Given the description of an element on the screen output the (x, y) to click on. 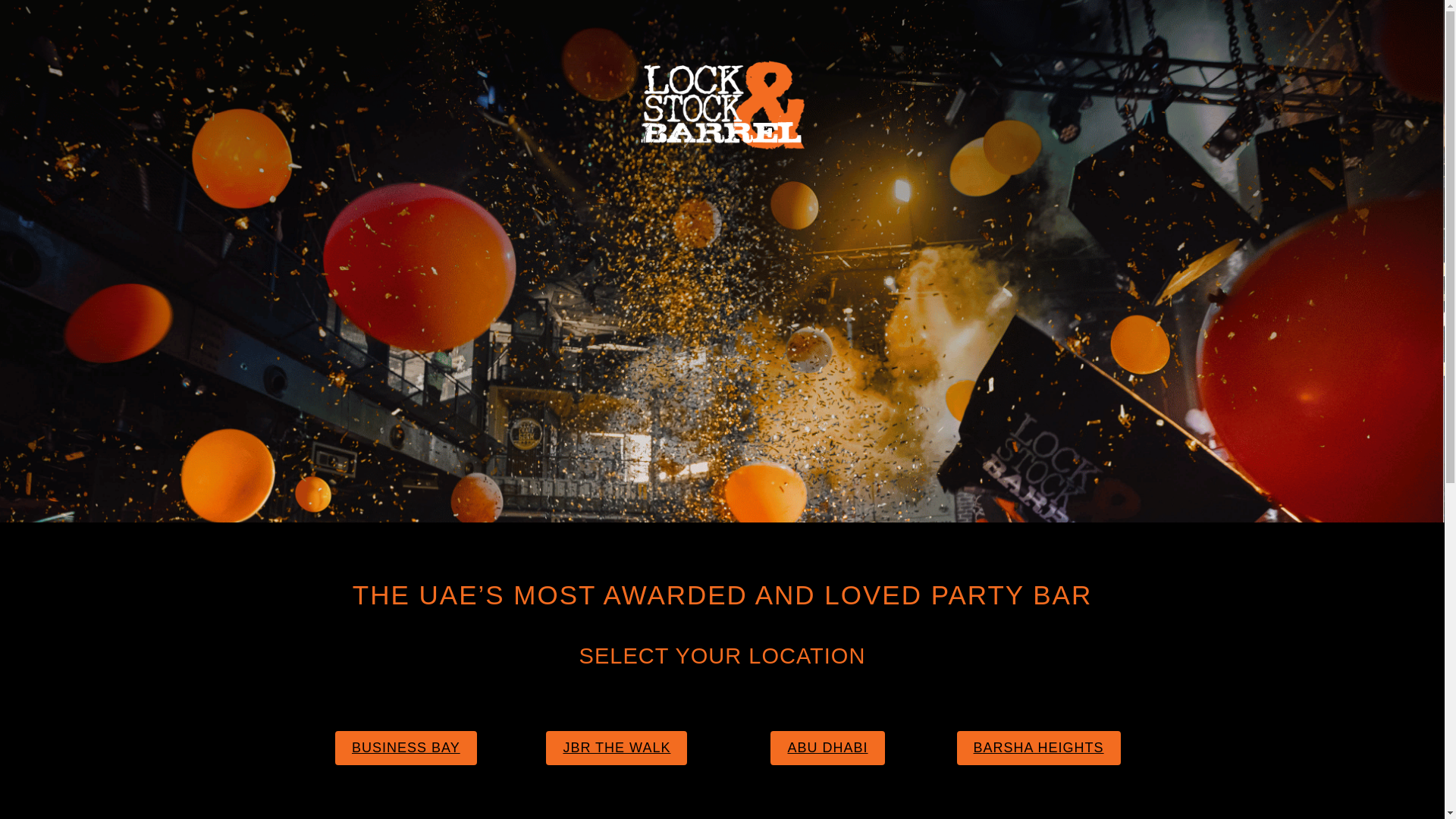
BUSINESS BAY (405, 747)
ABU DHABI (826, 747)
JBR THE WALK (616, 747)
BARSHA HEIGHTS (1038, 747)
